Given the description of an element on the screen output the (x, y) to click on. 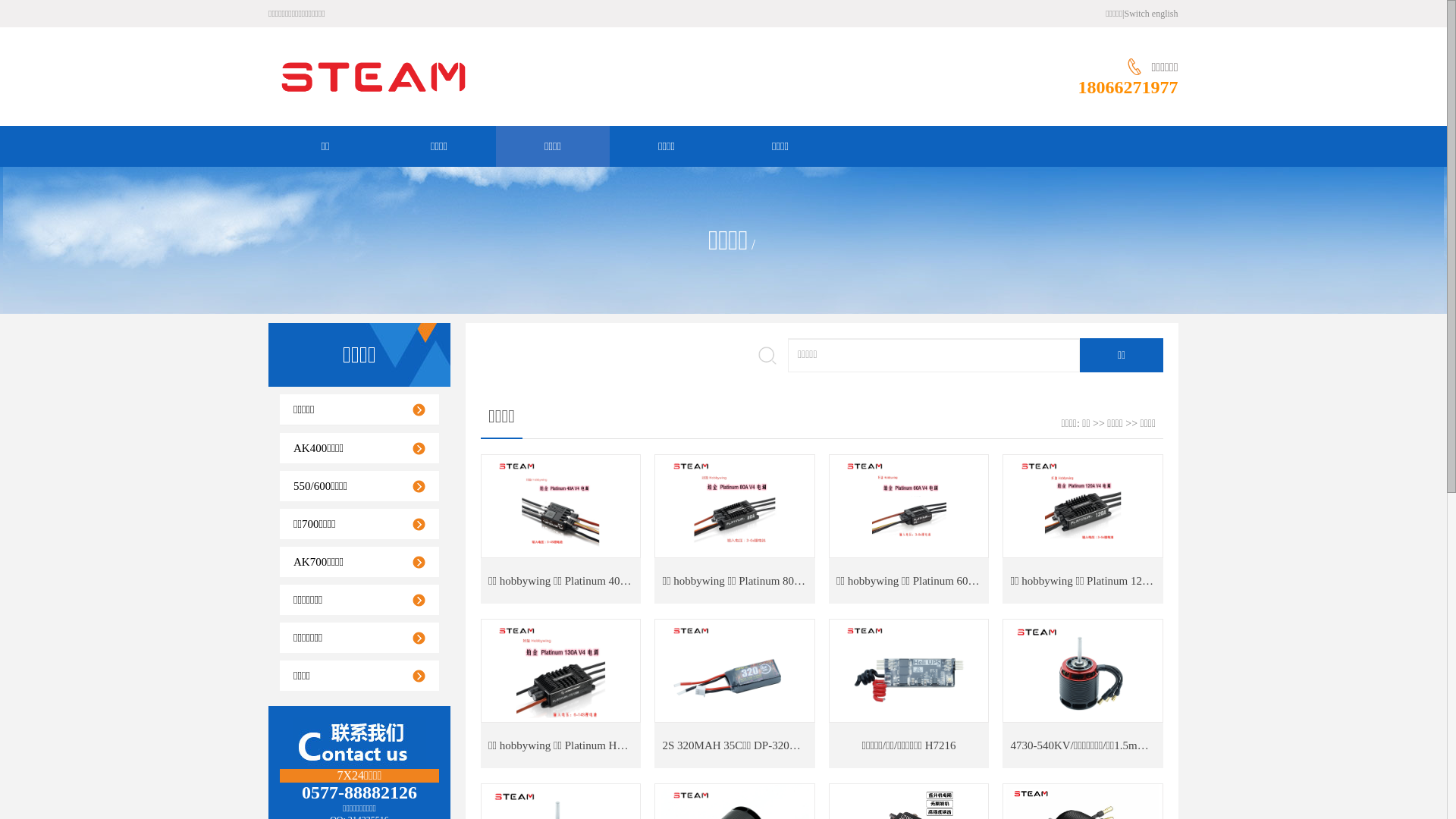
Switch english Element type: text (1150, 13)
18066271977 Element type: text (1128, 87)
